Given the description of an element on the screen output the (x, y) to click on. 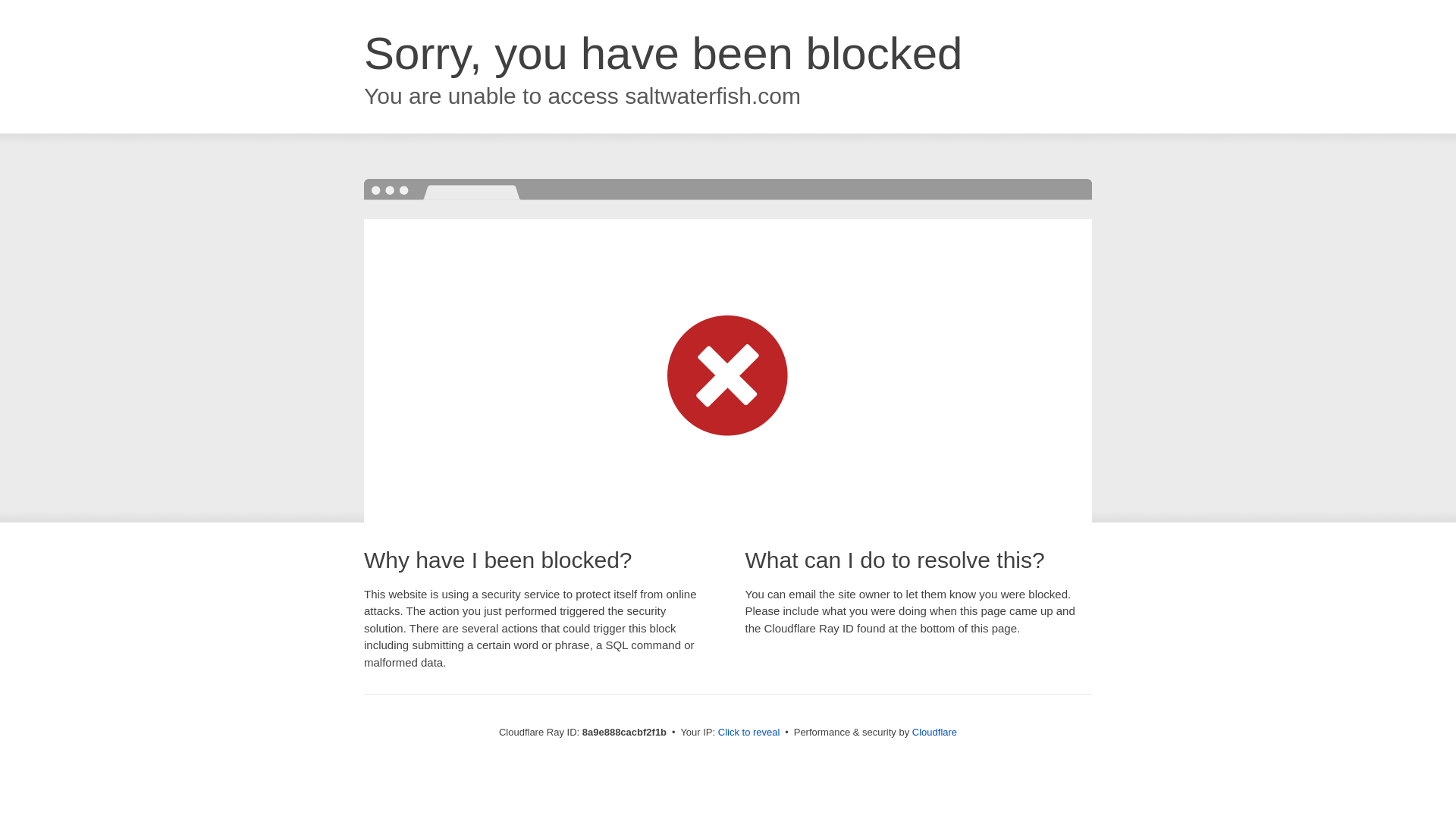
Click to reveal (748, 732)
Cloudflare (934, 731)
